Given the description of an element on the screen output the (x, y) to click on. 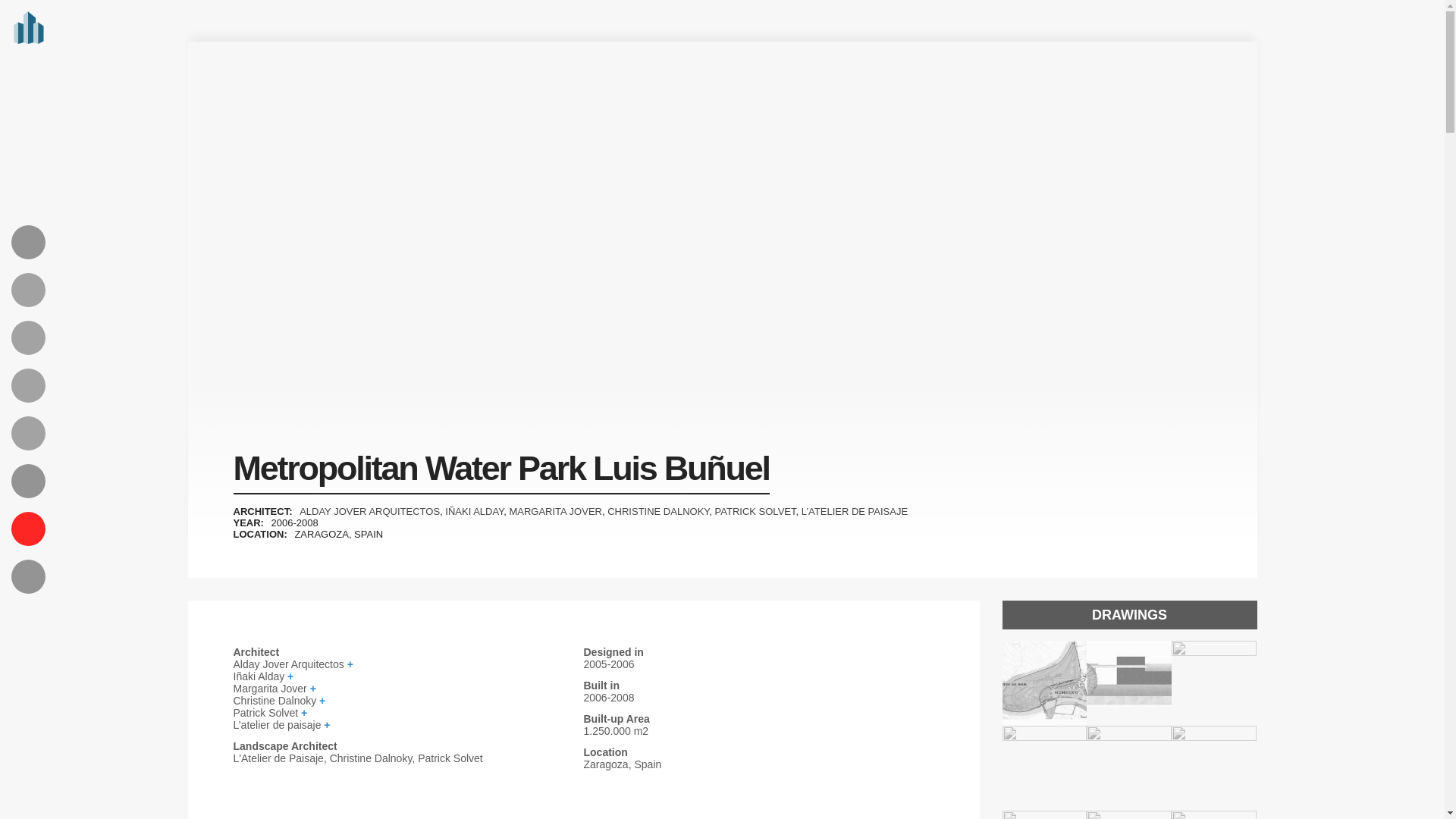
Christine Dalnoky (407, 700)
Patrick Solvet (407, 712)
CHRISTINE DALNOKY (658, 511)
Margarita Jover (407, 688)
MARGARITA JOVER (555, 511)
ALDAY JOVER ARQUITECTOS (369, 511)
Alday Jover Arquitectos (407, 664)
PATRICK SOLVET (755, 511)
